Given the description of an element on the screen output the (x, y) to click on. 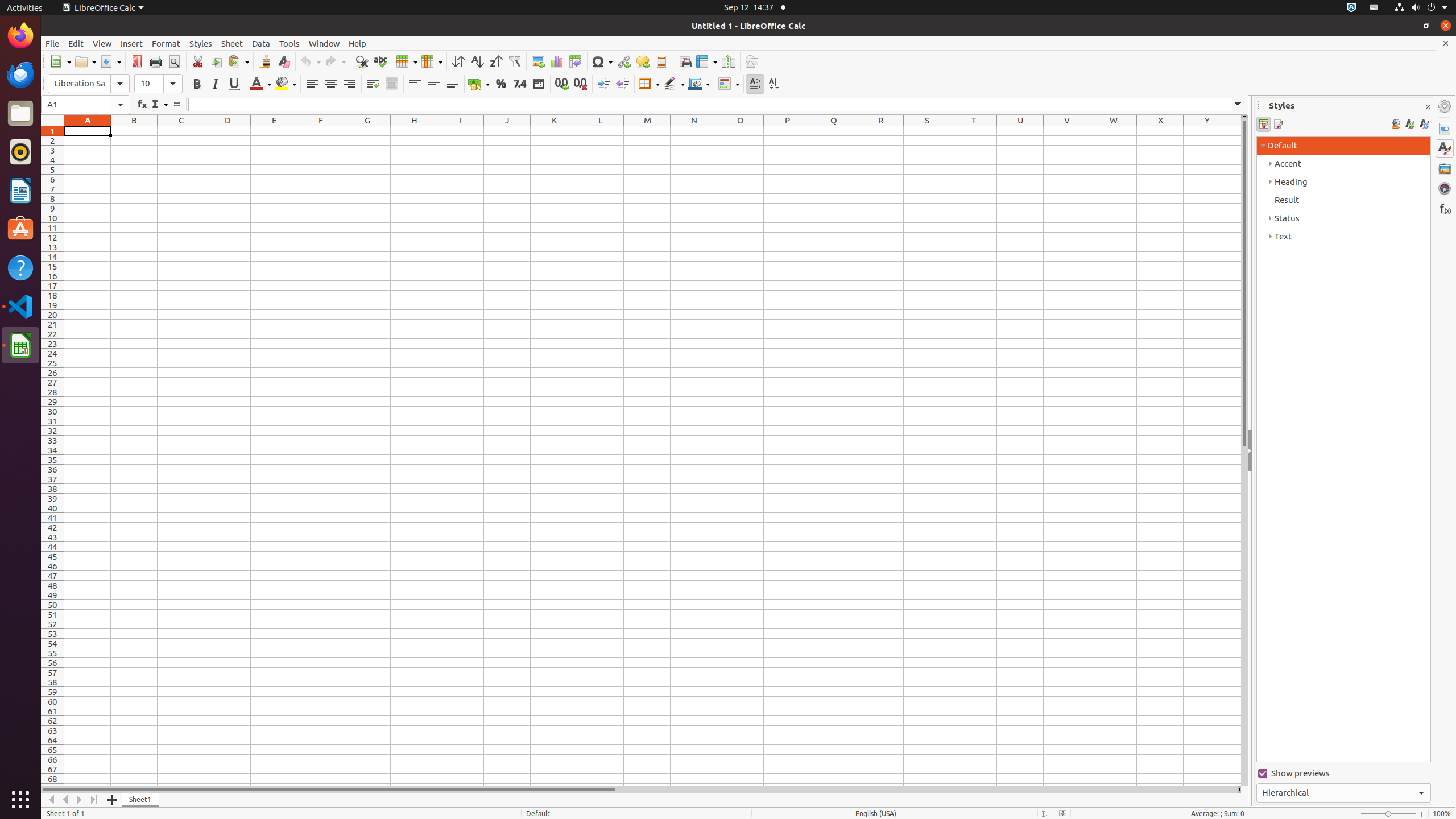
Spelling Element type: push-button (379, 61)
Redo Element type: push-button (334, 61)
Expand Formula Bar Element type: push-button (1237, 104)
C1 Element type: table-cell (180, 130)
Print Element type: push-button (155, 61)
